Given the description of an element on the screen output the (x, y) to click on. 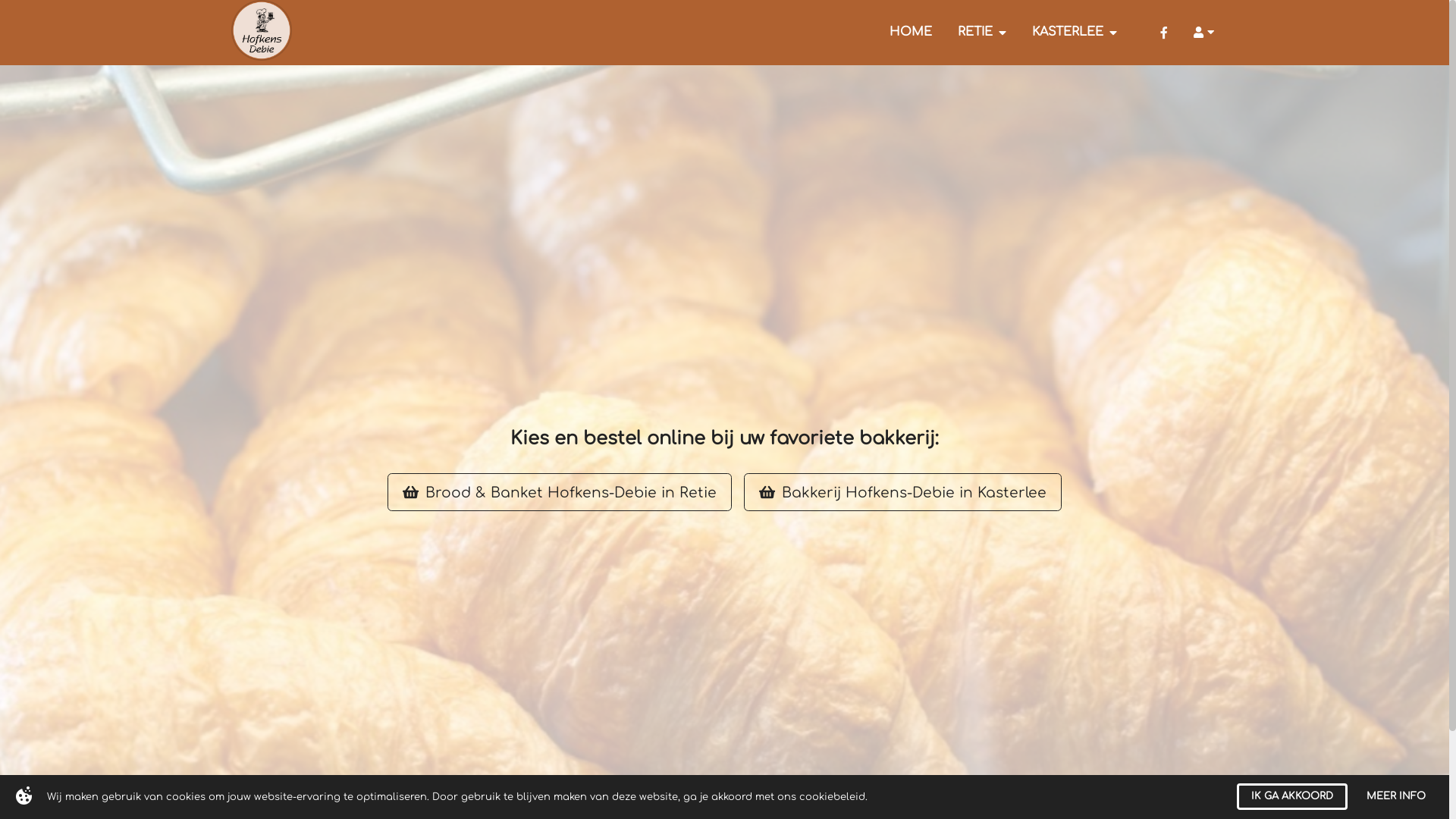
MEER INFO Element type: text (1395, 796)
Brood & Banket Hofkens-Debie in Retie Element type: text (559, 492)
RETIE Element type: text (981, 32)
KASTERLEE Element type: text (1074, 32)
HOME Element type: text (910, 32)
IK GA AKKOORD Element type: text (1291, 796)
Bakkerij Hofkens-Debie in Kasterlee Element type: text (902, 492)
